Given the description of an element on the screen output the (x, y) to click on. 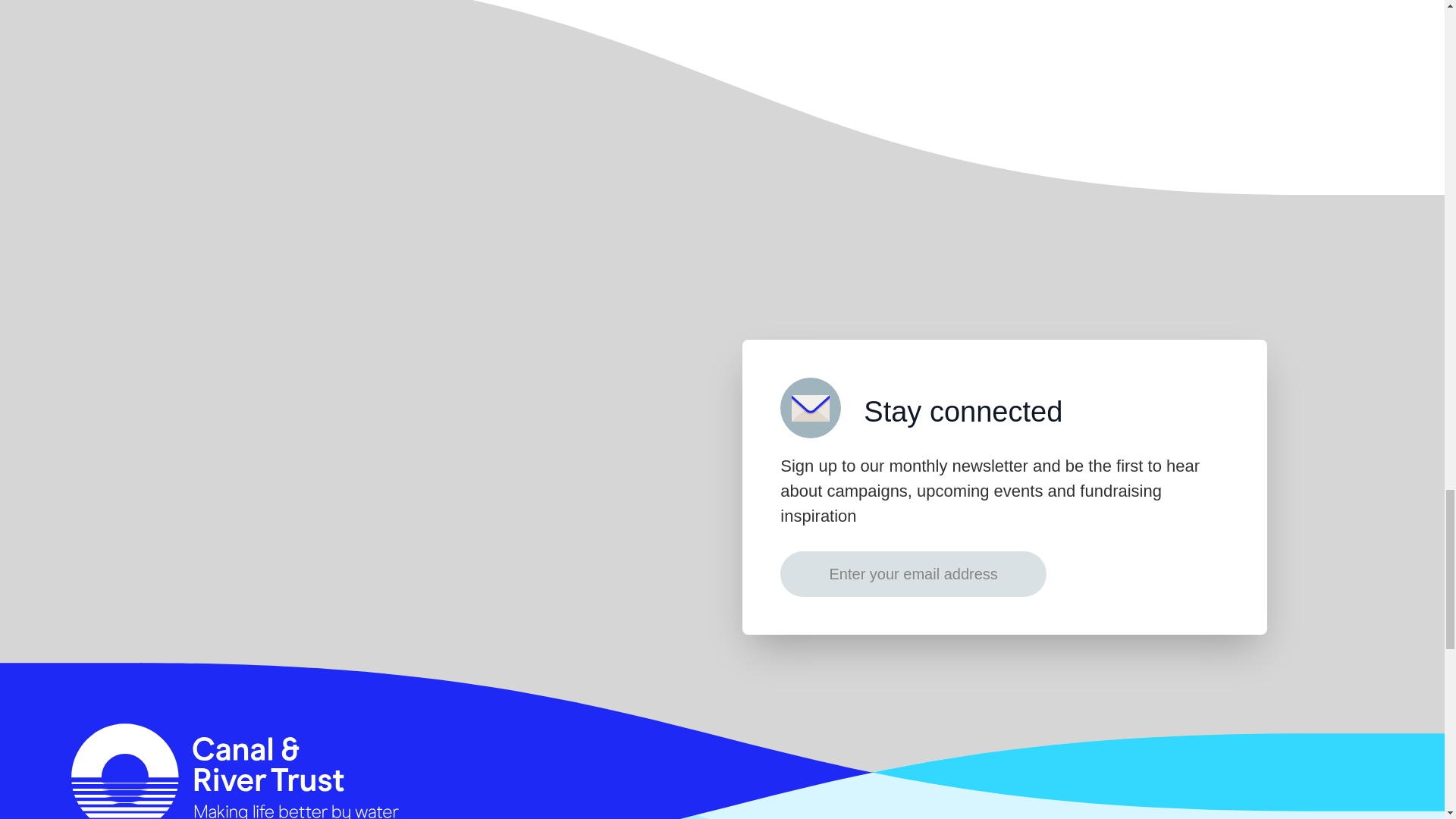
Sign up (1141, 574)
